Given the description of an element on the screen output the (x, y) to click on. 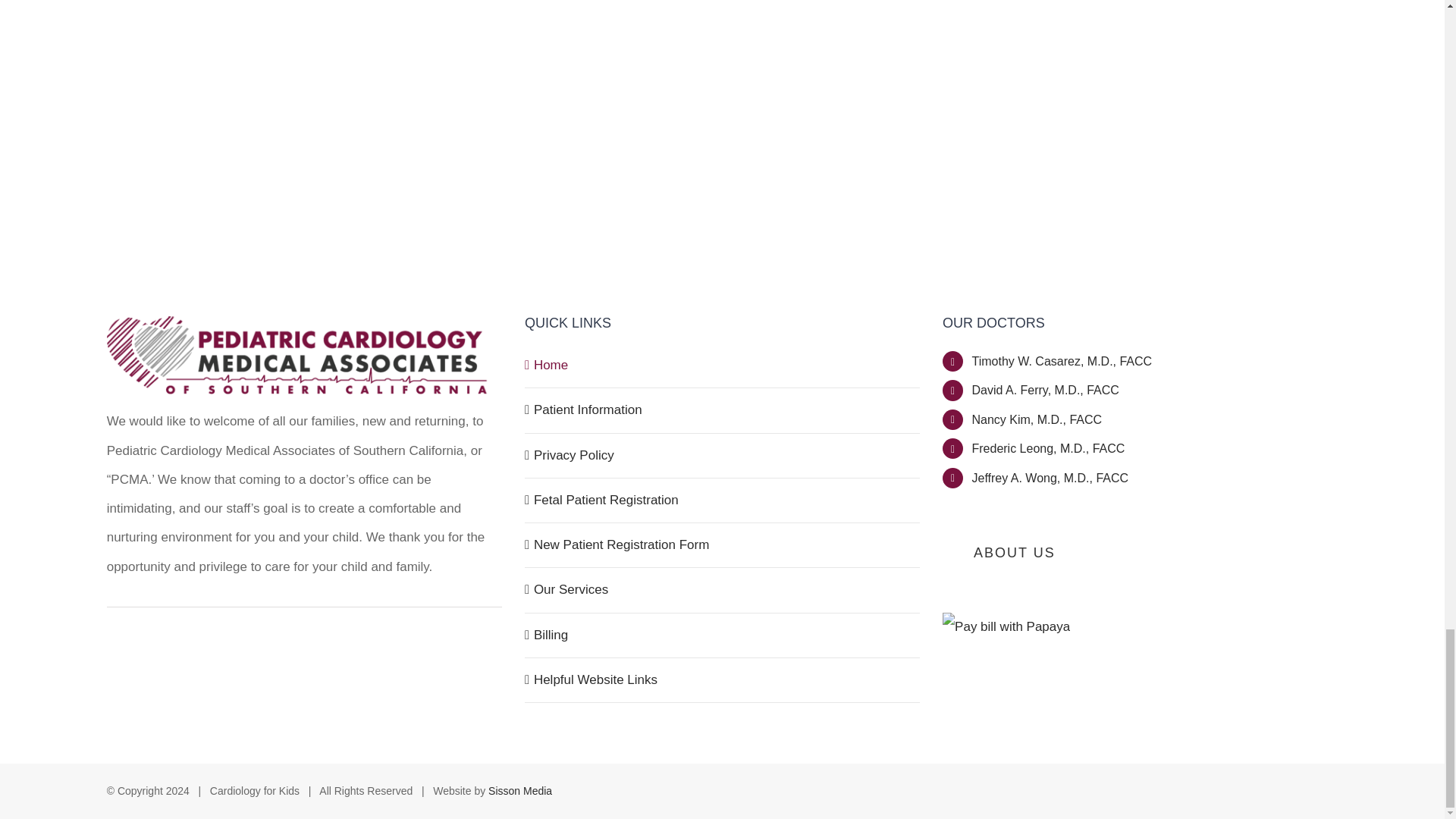
Patient Information (723, 410)
Home (723, 365)
